Given the description of an element on the screen output the (x, y) to click on. 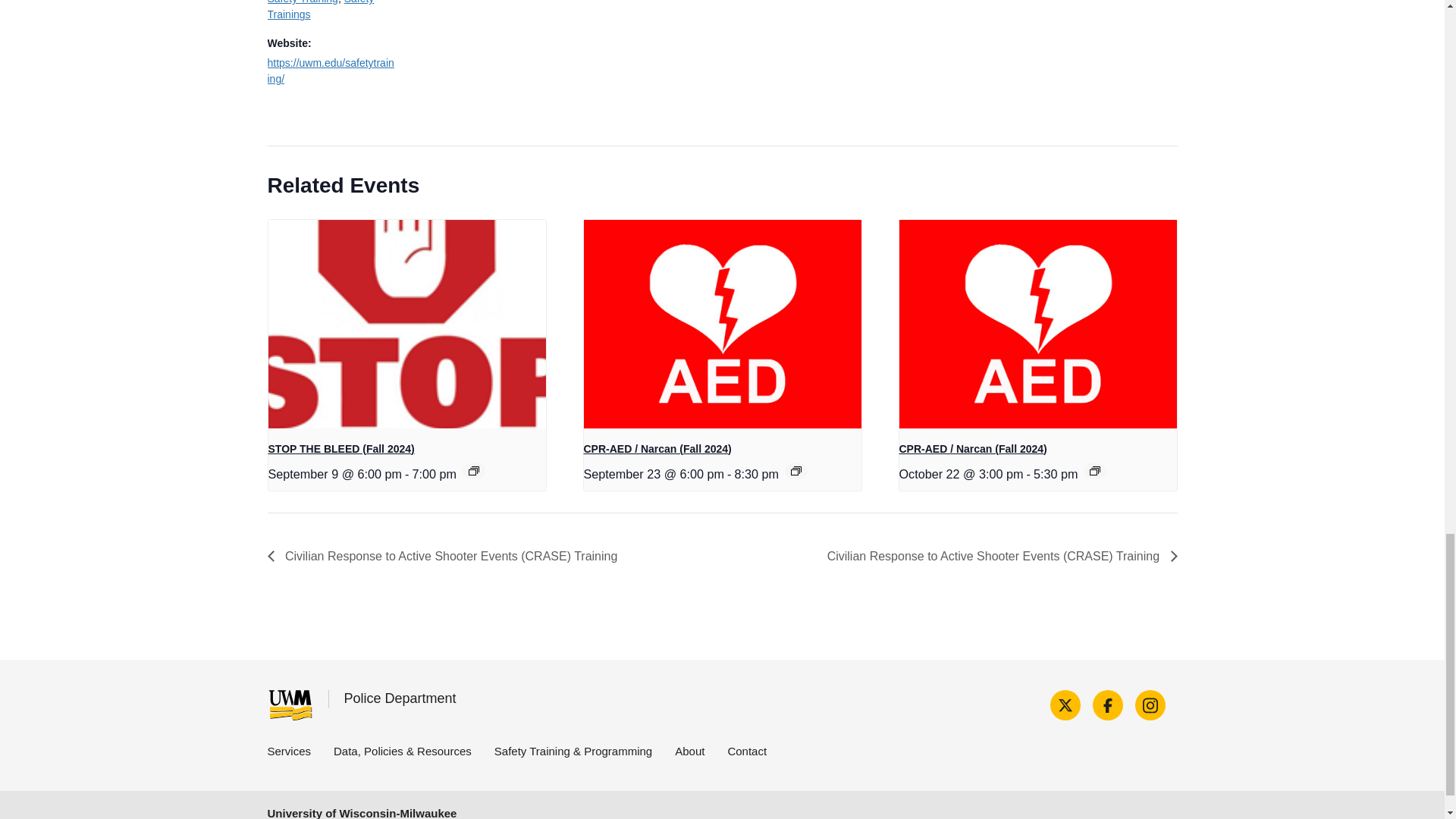
Event Series (1094, 470)
UWM Police Department (400, 698)
Event Series (473, 470)
UWM Police Department (289, 705)
Event Series (796, 470)
